Given the description of an element on the screen output the (x, y) to click on. 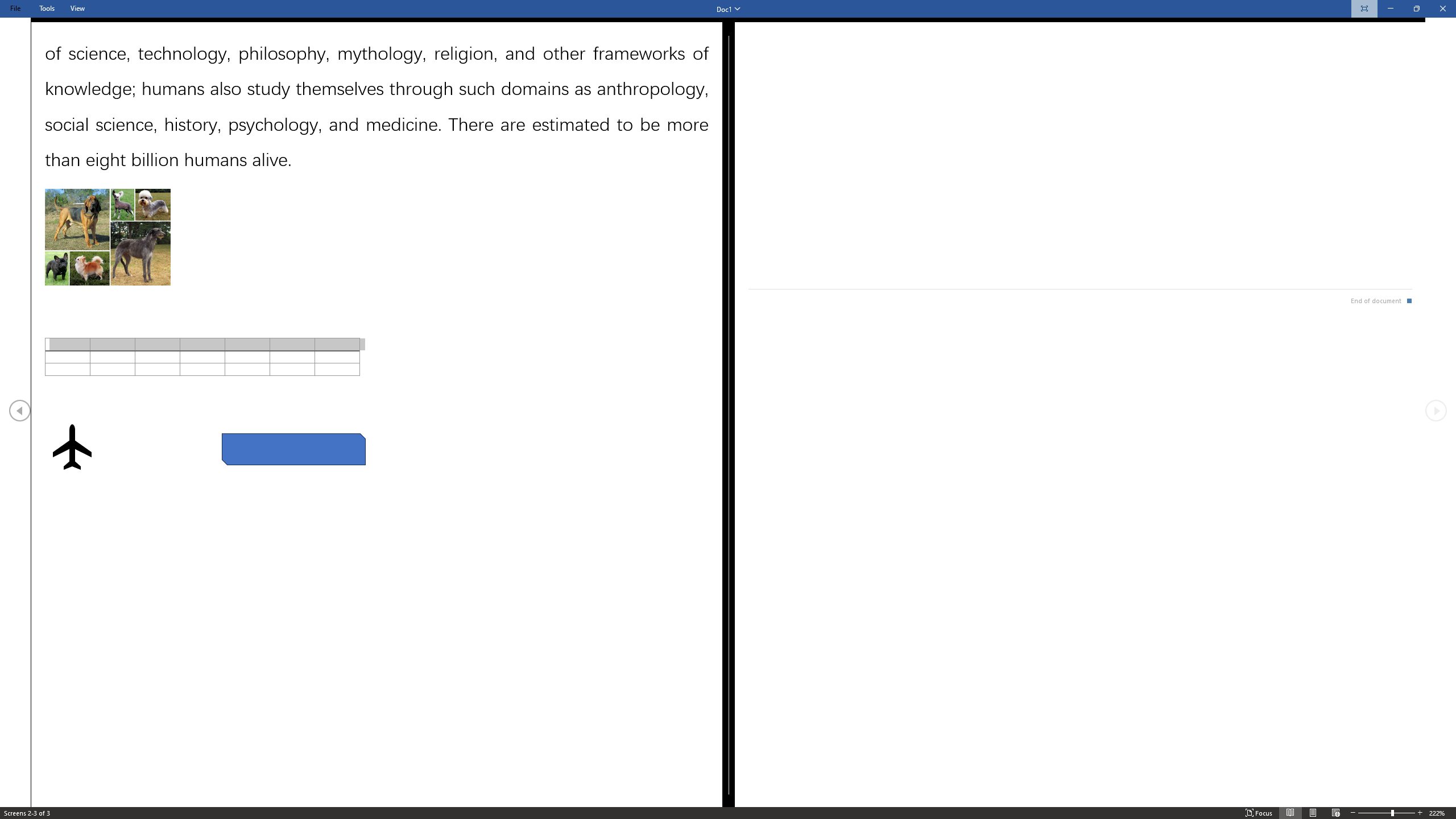
Class: Net UI Tool Window Layered (728, 9)
